Given the description of an element on the screen output the (x, y) to click on. 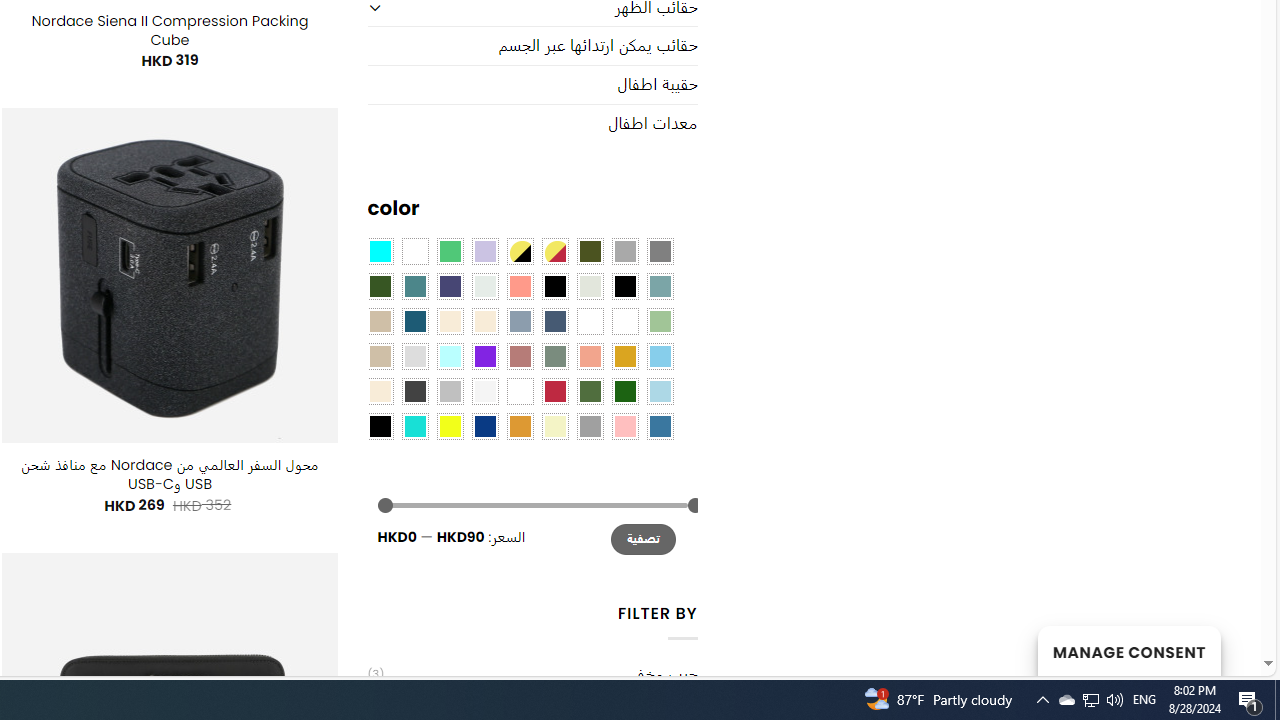
Khaki (624, 321)
Clear (414, 251)
Forest (379, 285)
Yellow-Red (554, 251)
Nordace Siena II Compression Packing Cube (169, 29)
